Given the description of an element on the screen output the (x, y) to click on. 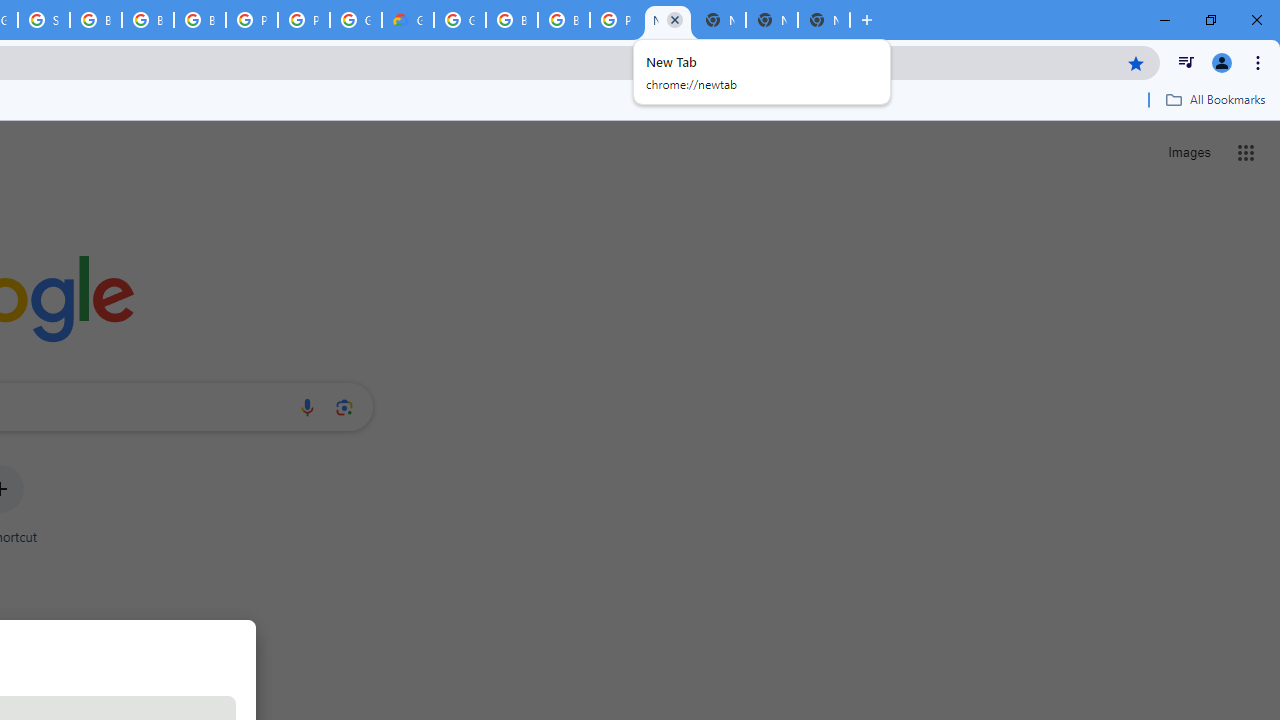
All Bookmarks (1215, 99)
Google Cloud Estimate Summary (407, 20)
Google Cloud Platform (459, 20)
Browse Chrome as a guest - Computer - Google Chrome Help (563, 20)
Control your music, videos, and more (1185, 62)
Browse Chrome as a guest - Computer - Google Chrome Help (147, 20)
New Tab (823, 20)
Browse Chrome as a guest - Computer - Google Chrome Help (200, 20)
